Given the description of an element on the screen output the (x, y) to click on. 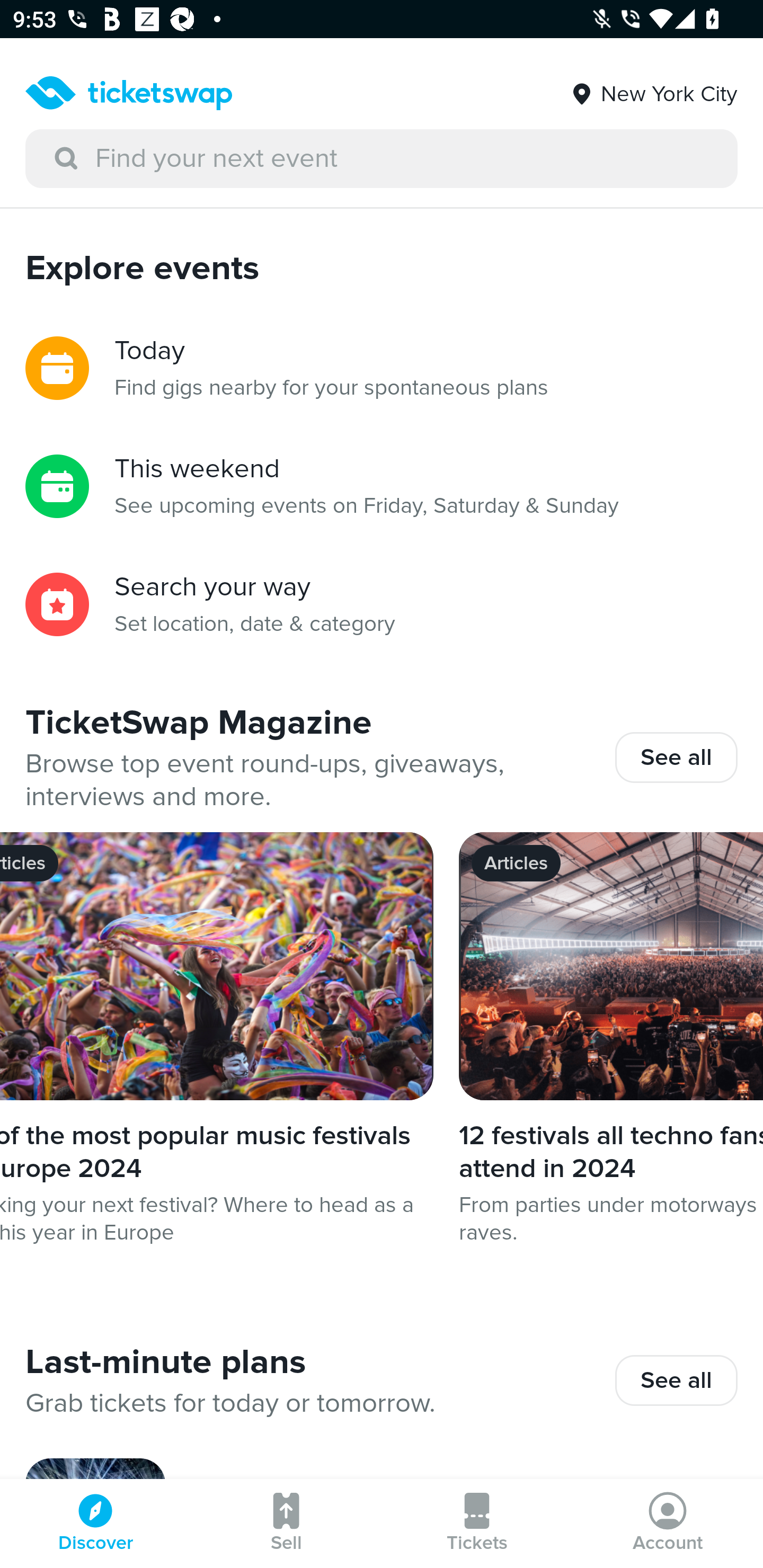
New York City (653, 87)
Find your next event (381, 158)
Today Find gigs nearby for your spontaneous plans (381, 367)
Search your way Set location, date & category (381, 604)
See all (675, 756)
See all (675, 1380)
Sell (285, 1523)
Tickets (476, 1523)
Account (667, 1523)
